Given the description of an element on the screen output the (x, y) to click on. 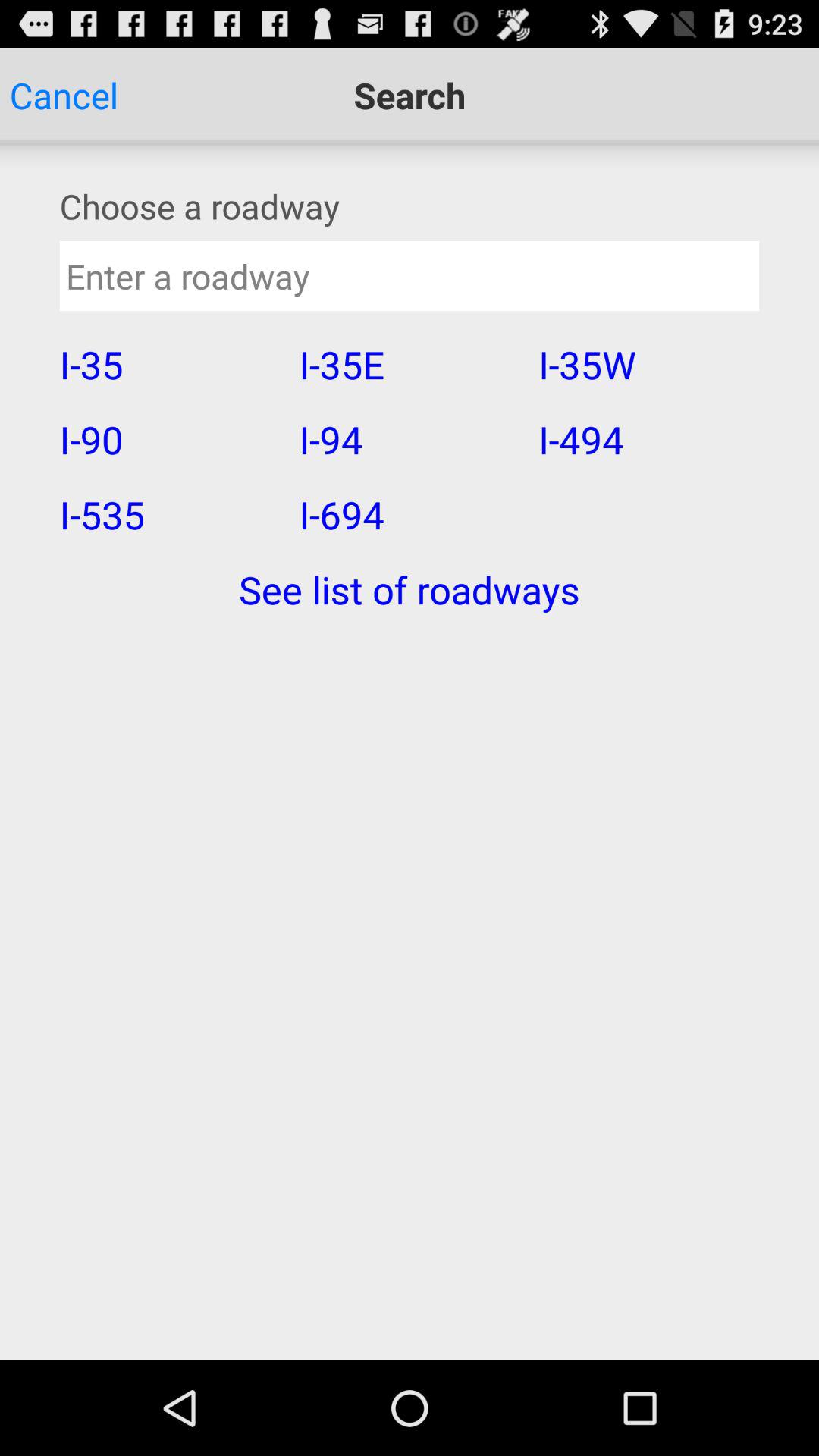
swipe to choose a roadway app (409, 206)
